Given the description of an element on the screen output the (x, y) to click on. 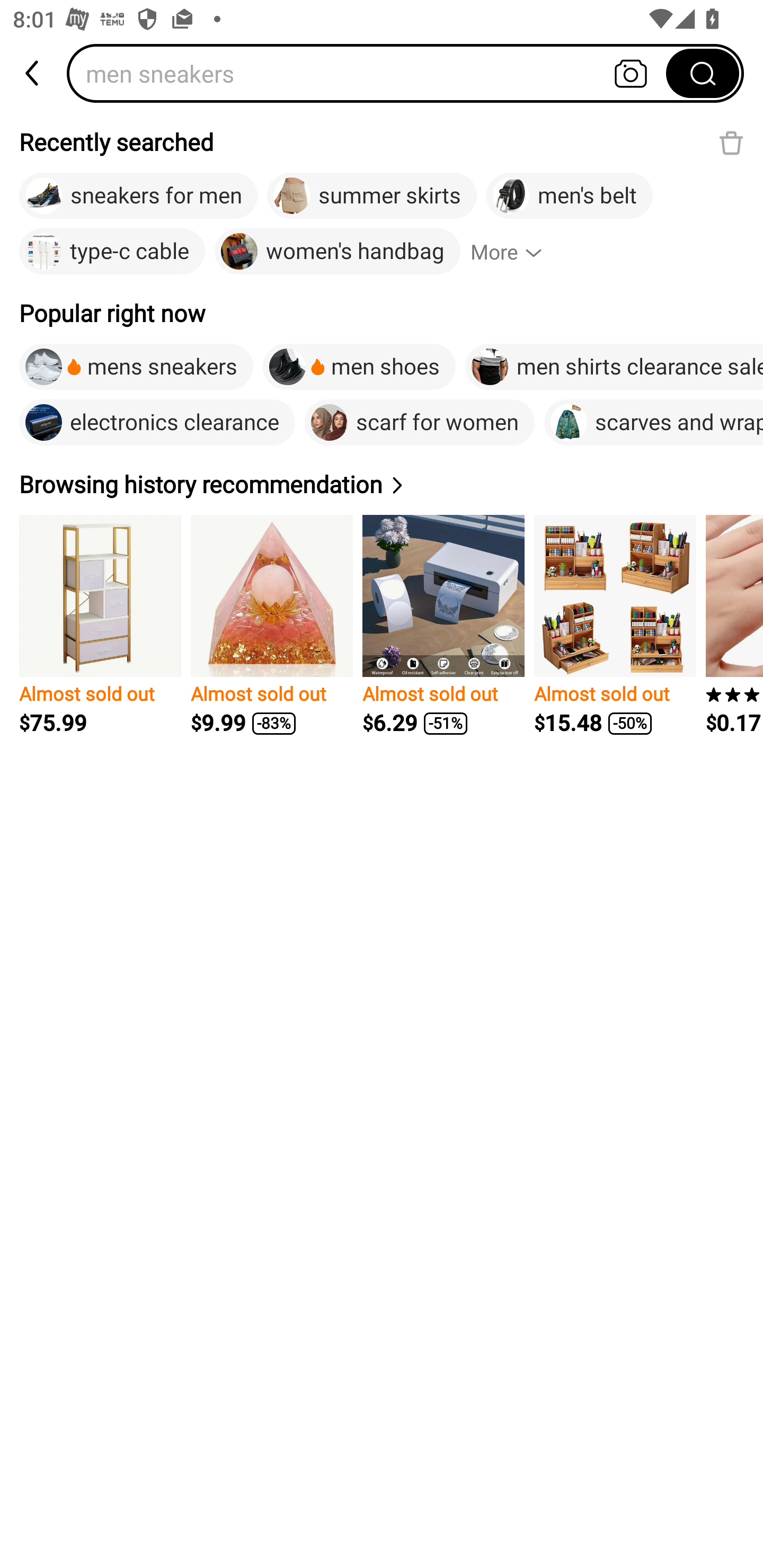
back (33, 72)
men sneakers (372, 73)
Search by photo (630, 73)
Delete recent search (731, 142)
sneakers for men (138, 195)
summer skirts (371, 195)
men's belt (569, 195)
type-c cable (112, 251)
women's handbag (337, 251)
More (514, 251)
mens sneakers (136, 366)
men shoes (358, 366)
men shirts clearance sale (614, 366)
electronics clearance (157, 422)
scarf for women (419, 422)
scarves and wraps for women (653, 422)
Browsing history recommendation (213, 484)
Almost sold out $75.99 (100, 625)
Almost sold out $9.99 -83% (271, 625)
